Given the description of an element on the screen output the (x, y) to click on. 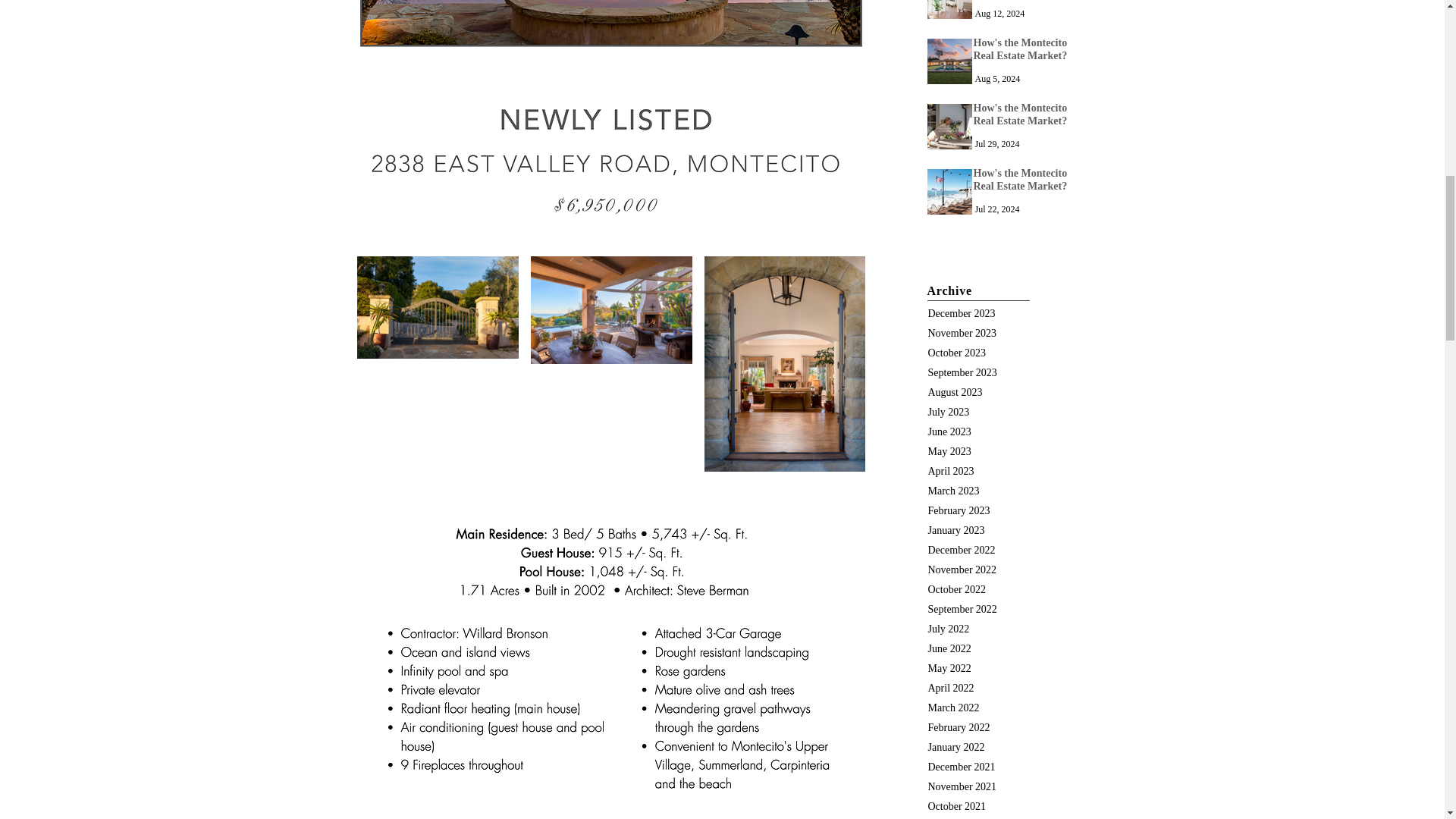
December 2023 (971, 313)
How's the Montecito Real Estate Market?  (948, 61)
How's the Montecito Real Estate Market?  (948, 9)
November 2023 (971, 333)
How's the Montecito Real Estate Market?  (948, 126)
How's the Montecito Real Estate Market?  (948, 191)
October 2023 (971, 352)
